Given the description of an element on the screen output the (x, y) to click on. 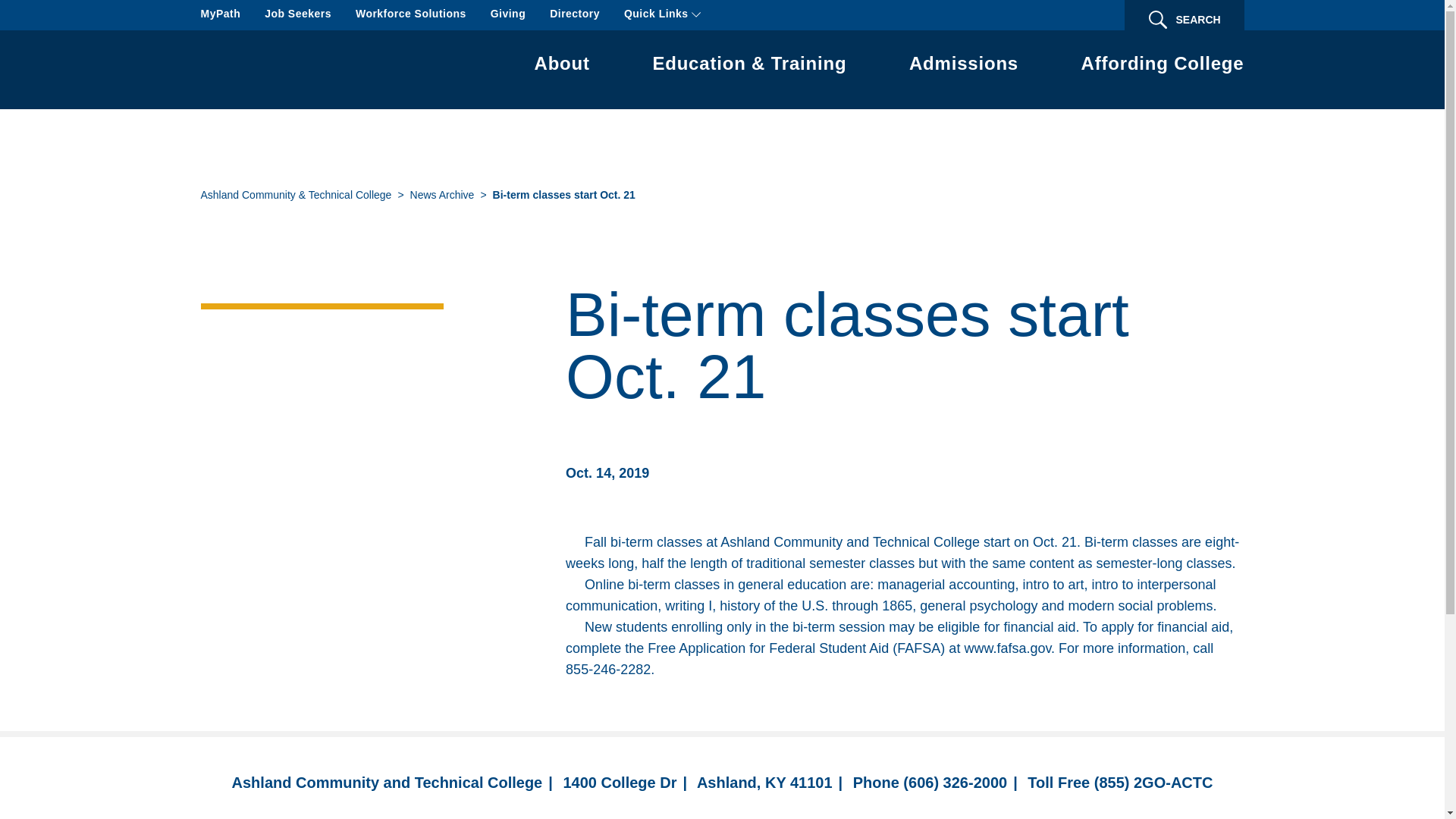
News Archive (442, 195)
MyPath (220, 14)
Directory (574, 14)
Affording College (1162, 65)
Workforce Solutions (410, 14)
Giving (507, 14)
About (561, 65)
Admissions (962, 65)
Job Seekers (297, 14)
